Given the description of an element on the screen output the (x, y) to click on. 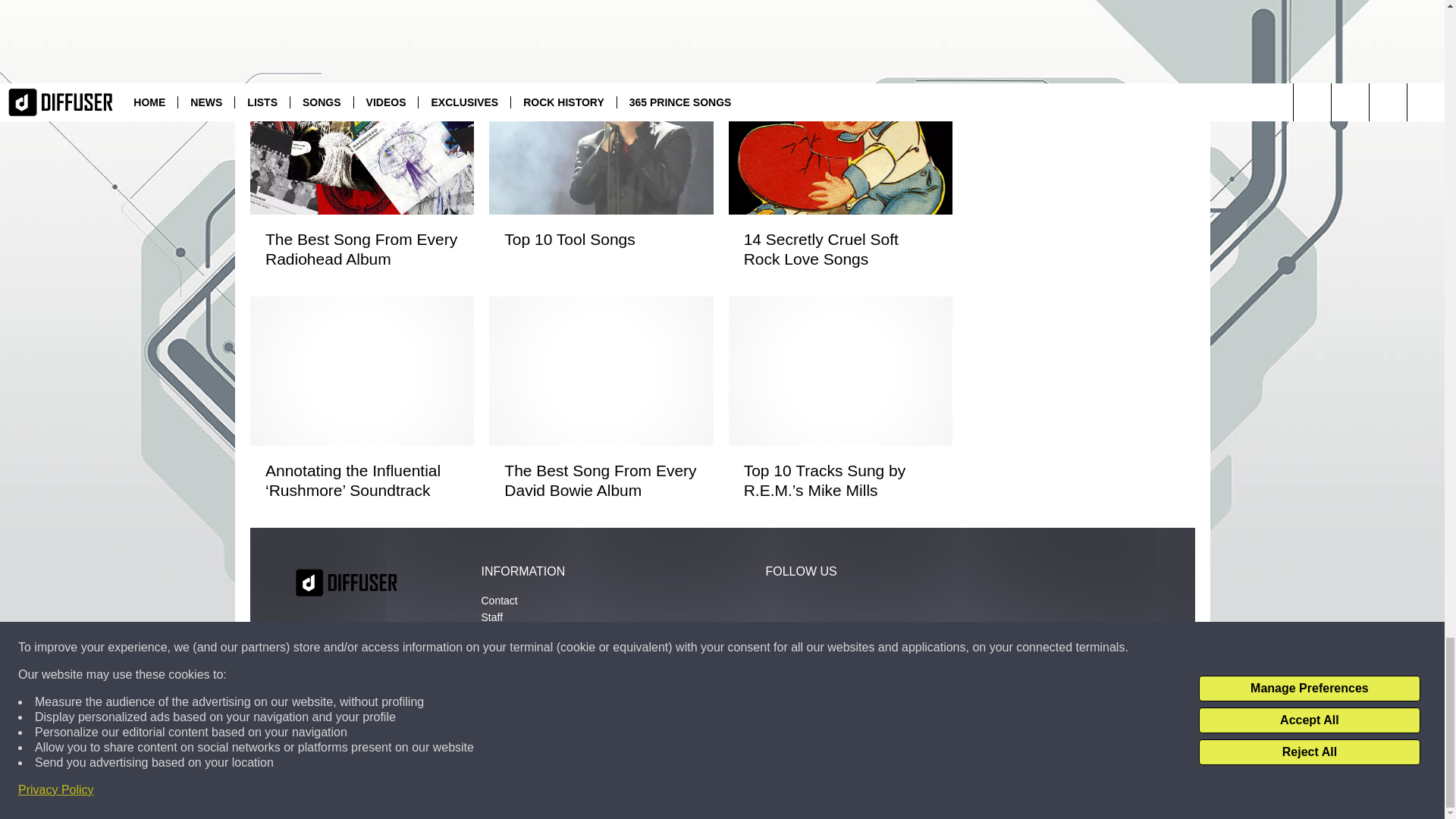
Top 10 Tool Songs (600, 239)
Rockstar Energy Disrupt Festival Announces Inaugural Lineup (839, 18)
The Best Song From Every Radiohead Album (361, 249)
14 Secretly Cruel Soft Rock Love Songs (839, 249)
